Given the description of an element on the screen output the (x, y) to click on. 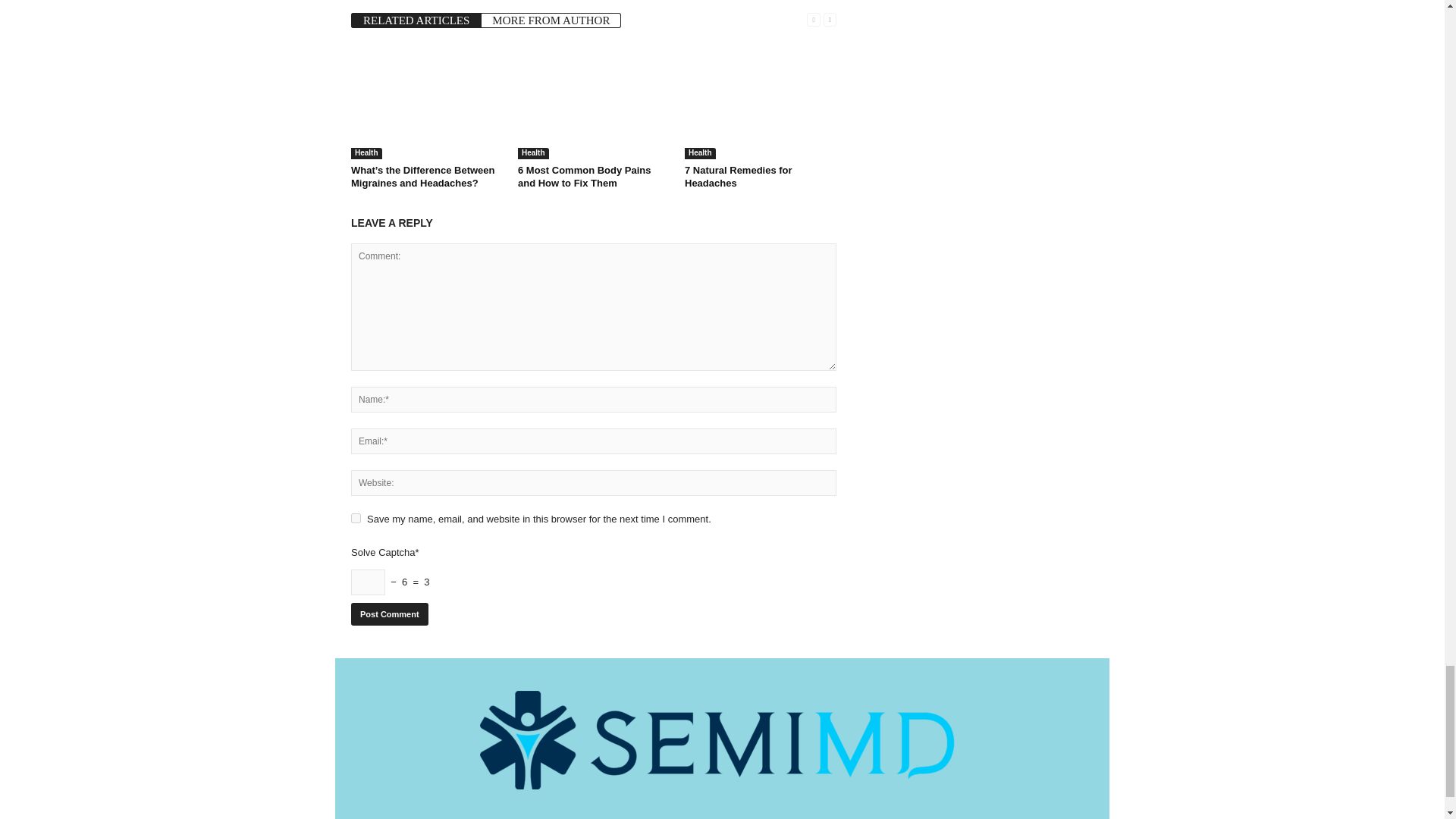
yes (355, 518)
Post Comment (389, 613)
6 Most Common Body Pains and How to Fix Them (593, 101)
